Given the description of an element on the screen output the (x, y) to click on. 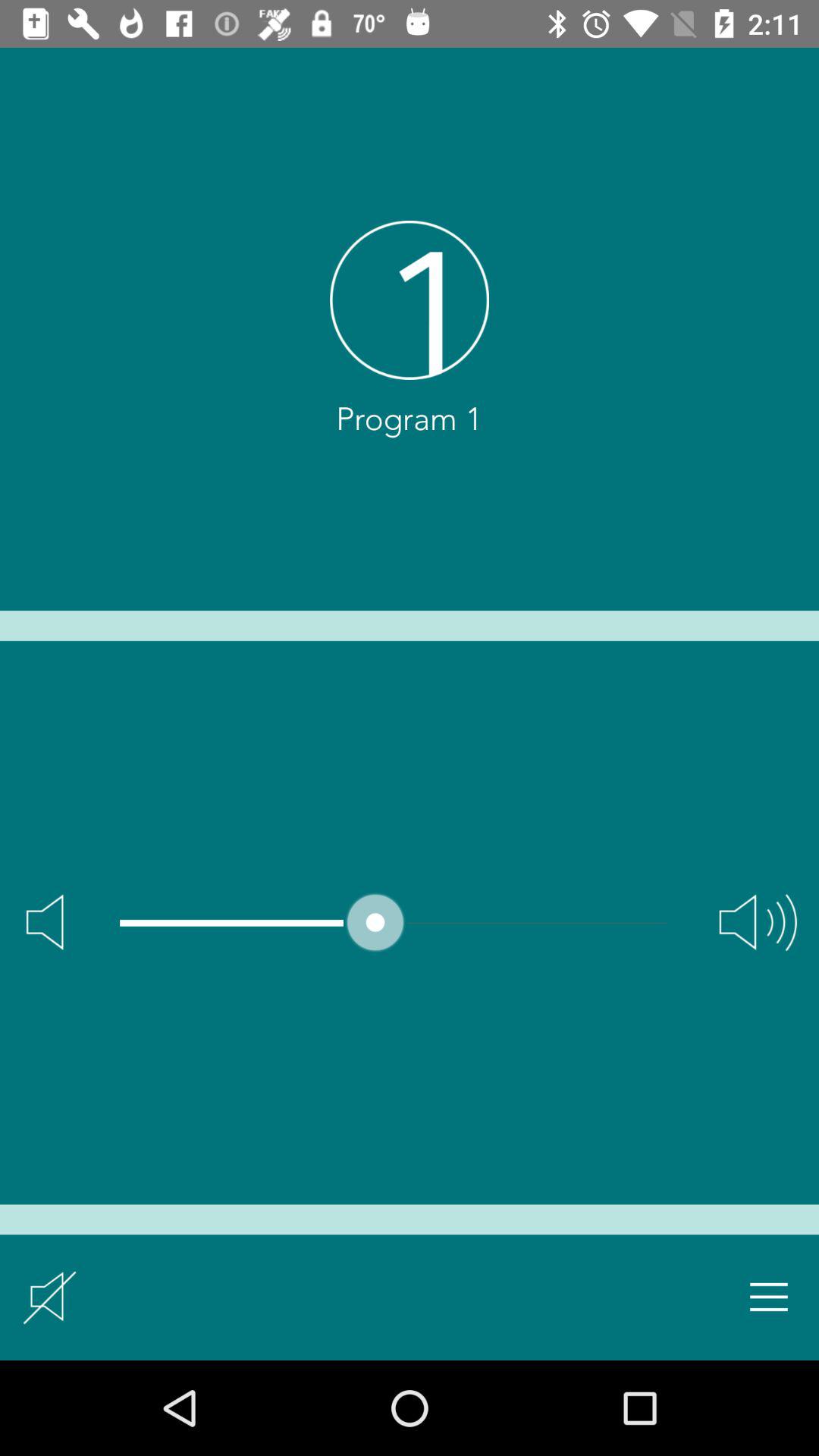
open icon at the bottom right corner (768, 1297)
